Given the description of an element on the screen output the (x, y) to click on. 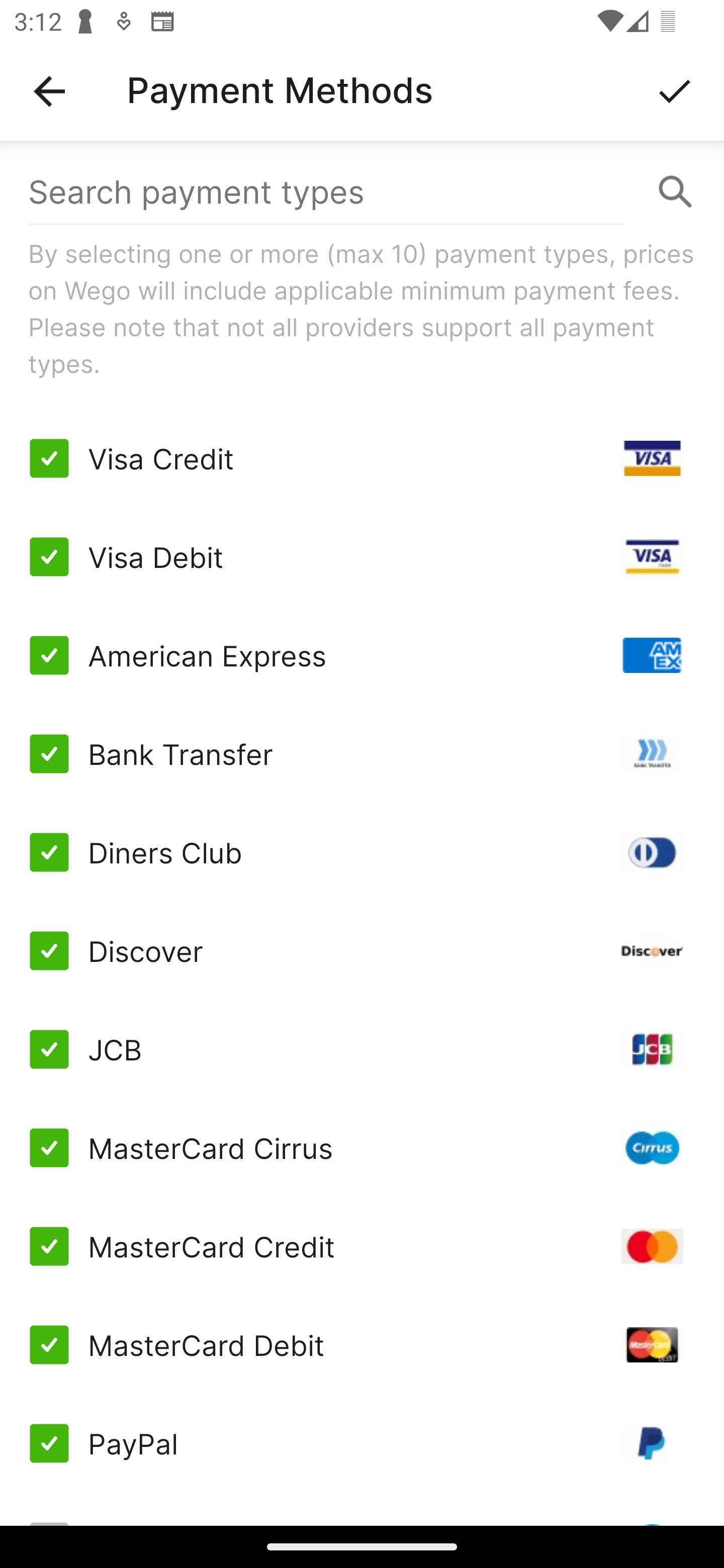
Search payment types  (361, 191)
Visa Credit (362, 458)
Visa Debit (362, 557)
American Express (362, 655)
Bank Transfer (362, 753)
Diners Club (362, 851)
Discover (362, 950)
JCB (362, 1049)
MasterCard Cirrus (362, 1147)
MasterCard Credit (362, 1245)
MasterCard Debit (362, 1344)
PayPal (362, 1442)
